Given the description of an element on the screen output the (x, y) to click on. 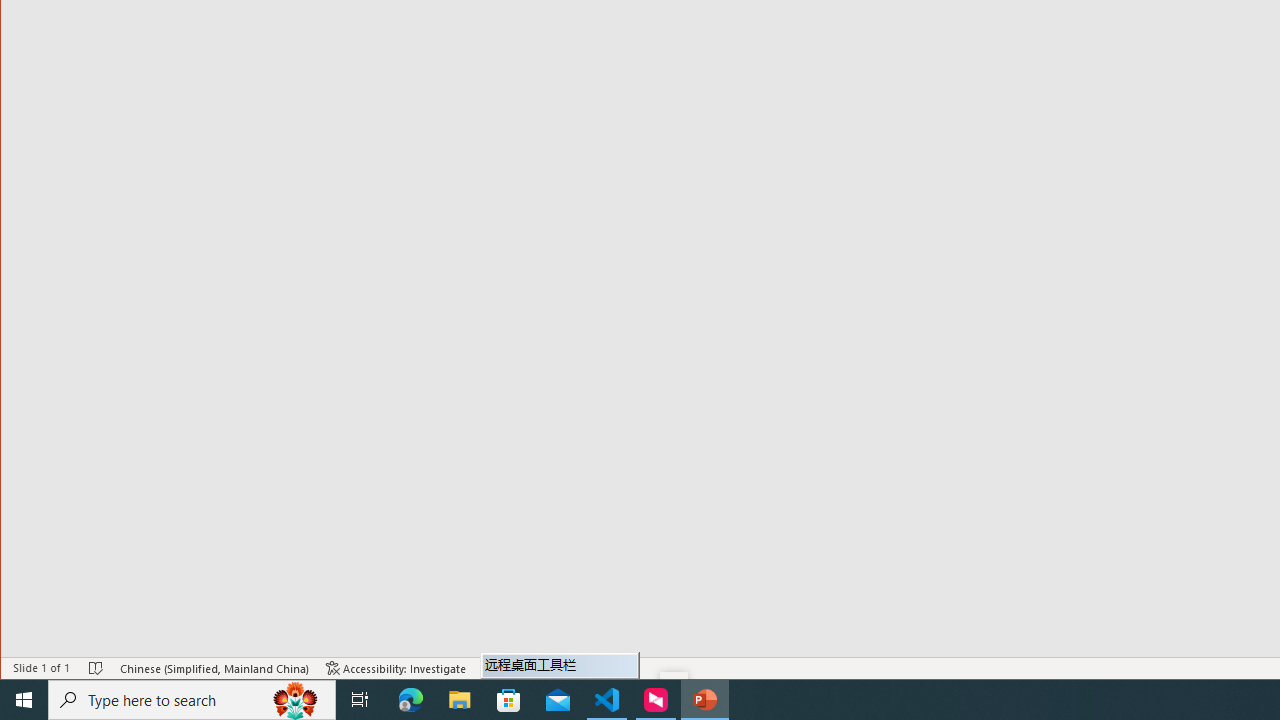
Start (24, 699)
Task View (359, 699)
Microsoft Edge (411, 699)
File Explorer (460, 699)
PowerPoint - 1 running window (704, 699)
Visual Studio Code - 1 running window (607, 699)
Search highlights icon opens search home window (295, 699)
Microsoft Store (509, 699)
Type here to search (191, 699)
